Given the description of an element on the screen output the (x, y) to click on. 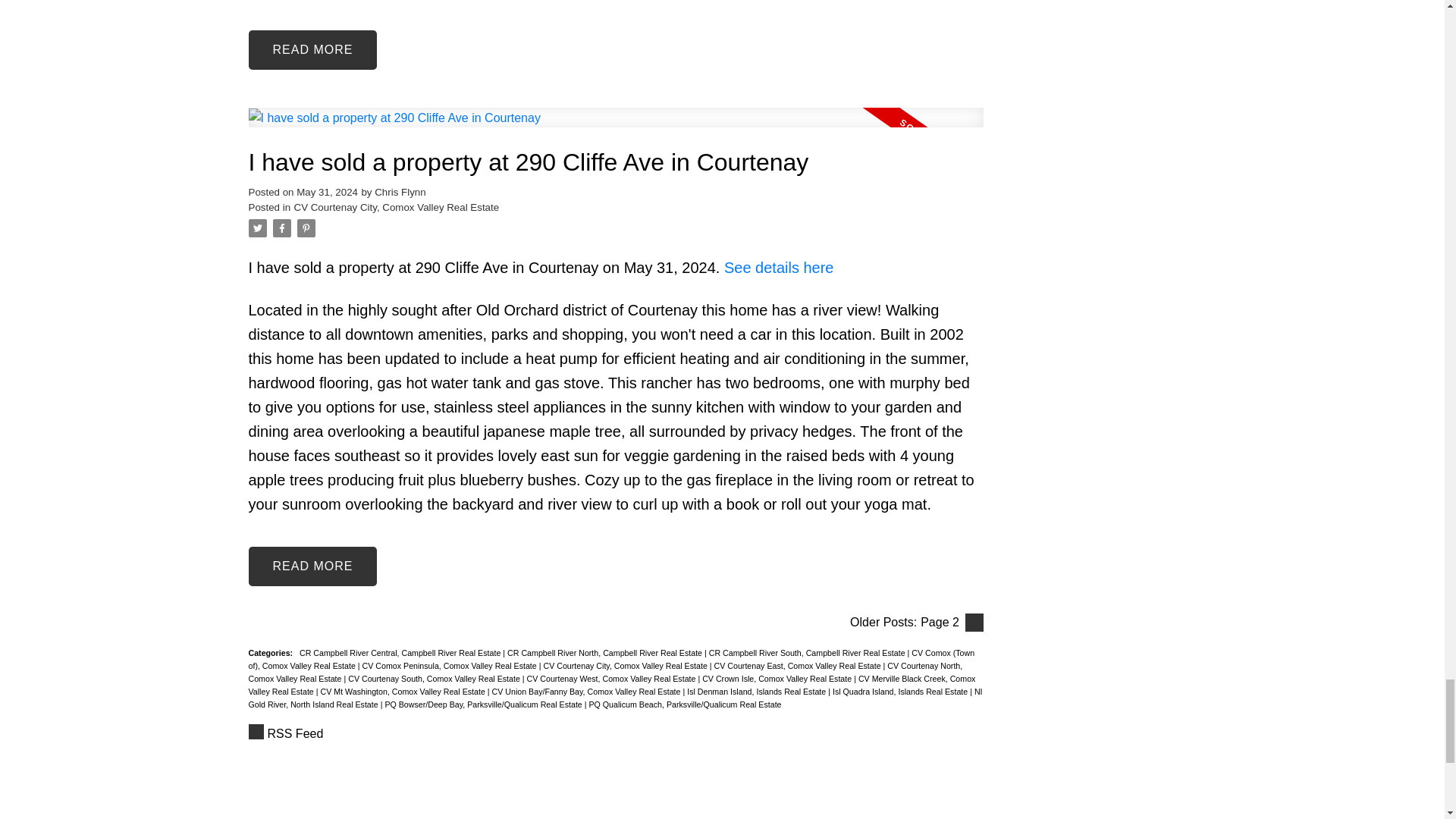
Read full post (616, 126)
RSS (616, 733)
